Given the description of an element on the screen output the (x, y) to click on. 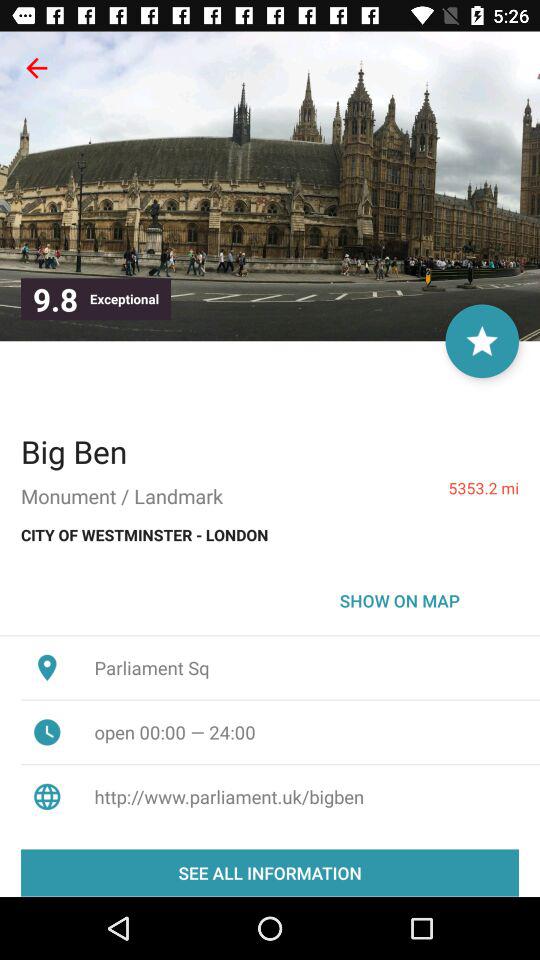
choose icon next to 5353.2 mi icon (74, 451)
